Given the description of an element on the screen output the (x, y) to click on. 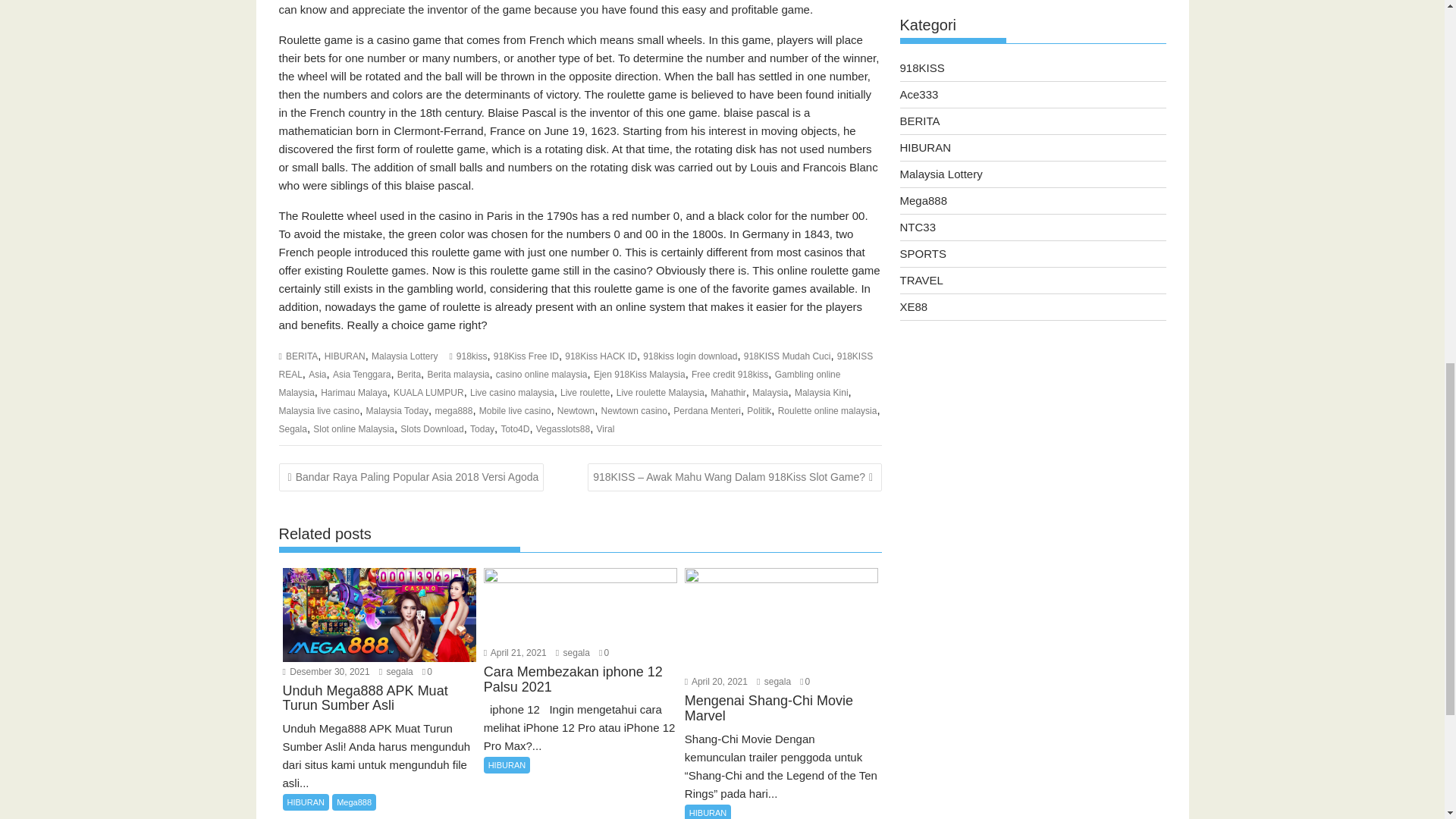
918Kiss HACK ID (600, 356)
BERITA (301, 356)
918kiss (472, 356)
918KISS REAL (576, 365)
segala (572, 652)
segala (773, 681)
918kiss login download (689, 356)
918Kiss Free ID (526, 356)
Malaysia Lottery (404, 356)
HIBURAN (344, 356)
segala (395, 671)
918KISS Mudah Cuci (787, 356)
